Given the description of an element on the screen output the (x, y) to click on. 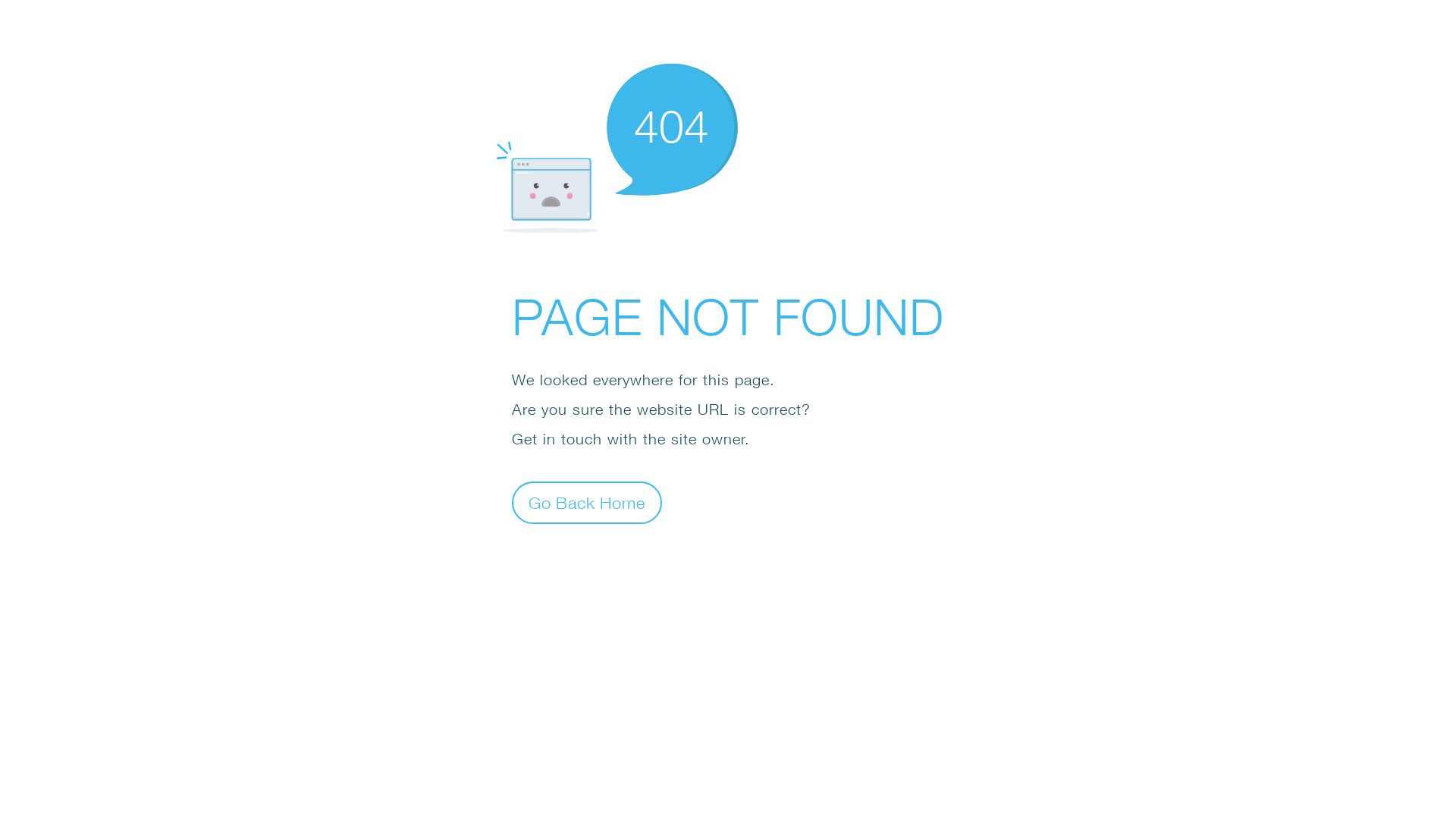
Go Back Home Element type: text (586, 502)
